Given the description of an element on the screen output the (x, y) to click on. 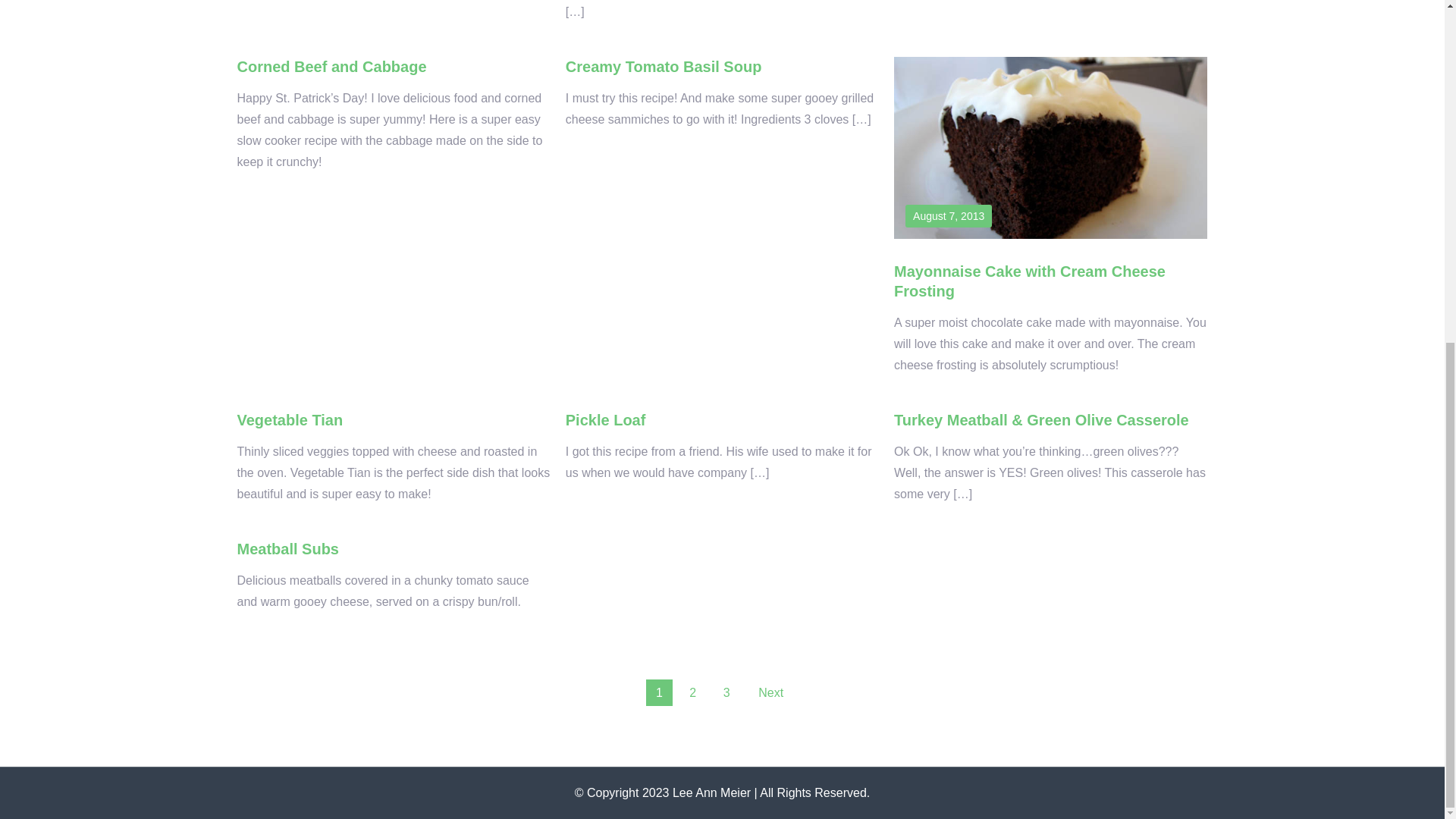
Corned Beef and Cabbage (330, 66)
Next (770, 692)
August 7, 2013 (948, 215)
Pickle Loaf (606, 419)
Creamy Tomato Basil Soup (663, 66)
3 (726, 692)
Vegetable Tian (288, 419)
Meatball Subs (286, 548)
Mayonnaise Cake with Cream Cheese Frosting (1029, 280)
2 (692, 692)
